Given the description of an element on the screen output the (x, y) to click on. 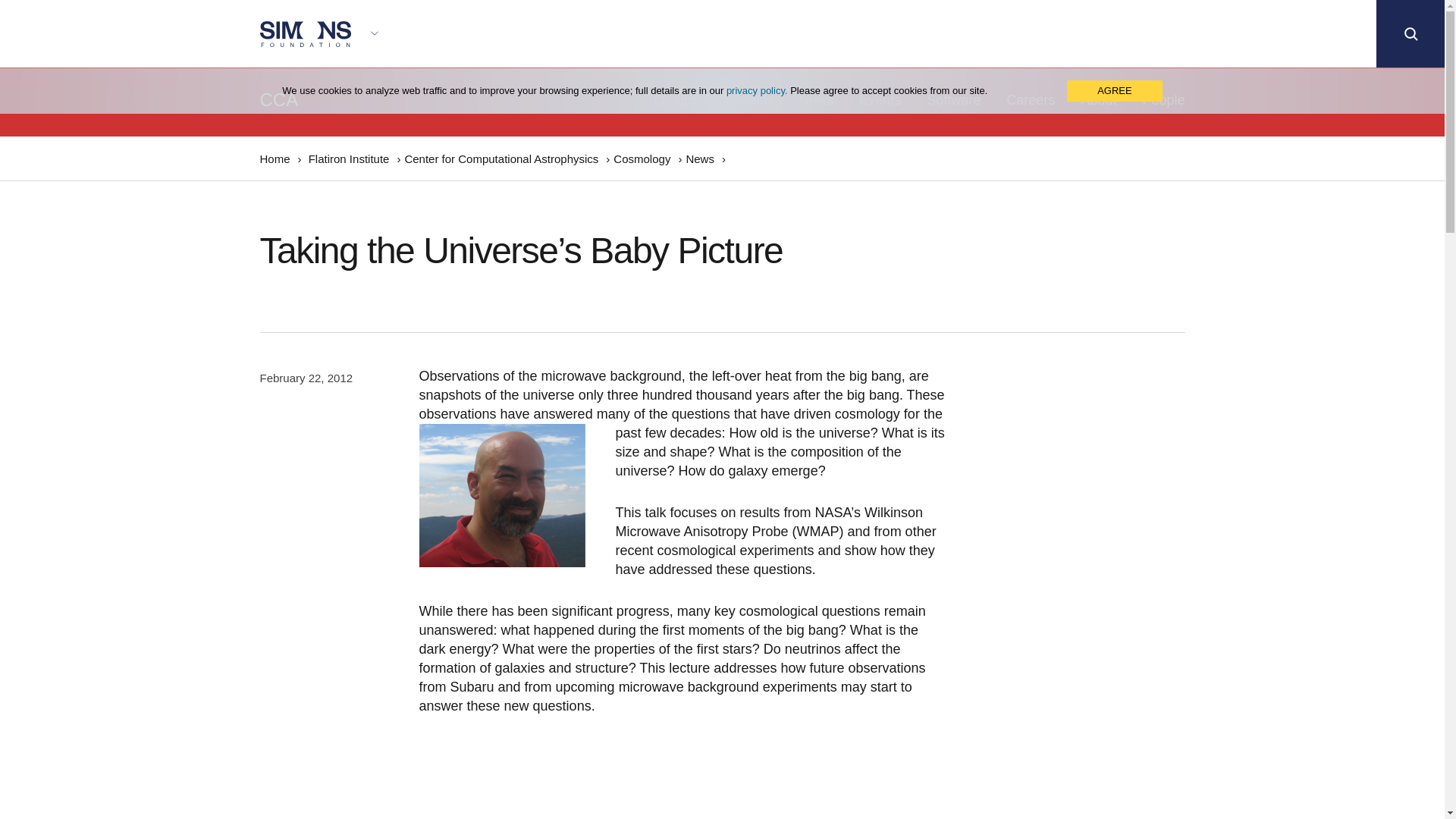
spergel (502, 495)
chevron-down--small (373, 33)
Simons Science Series - David Spergel (608, 778)
